Given the description of an element on the screen output the (x, y) to click on. 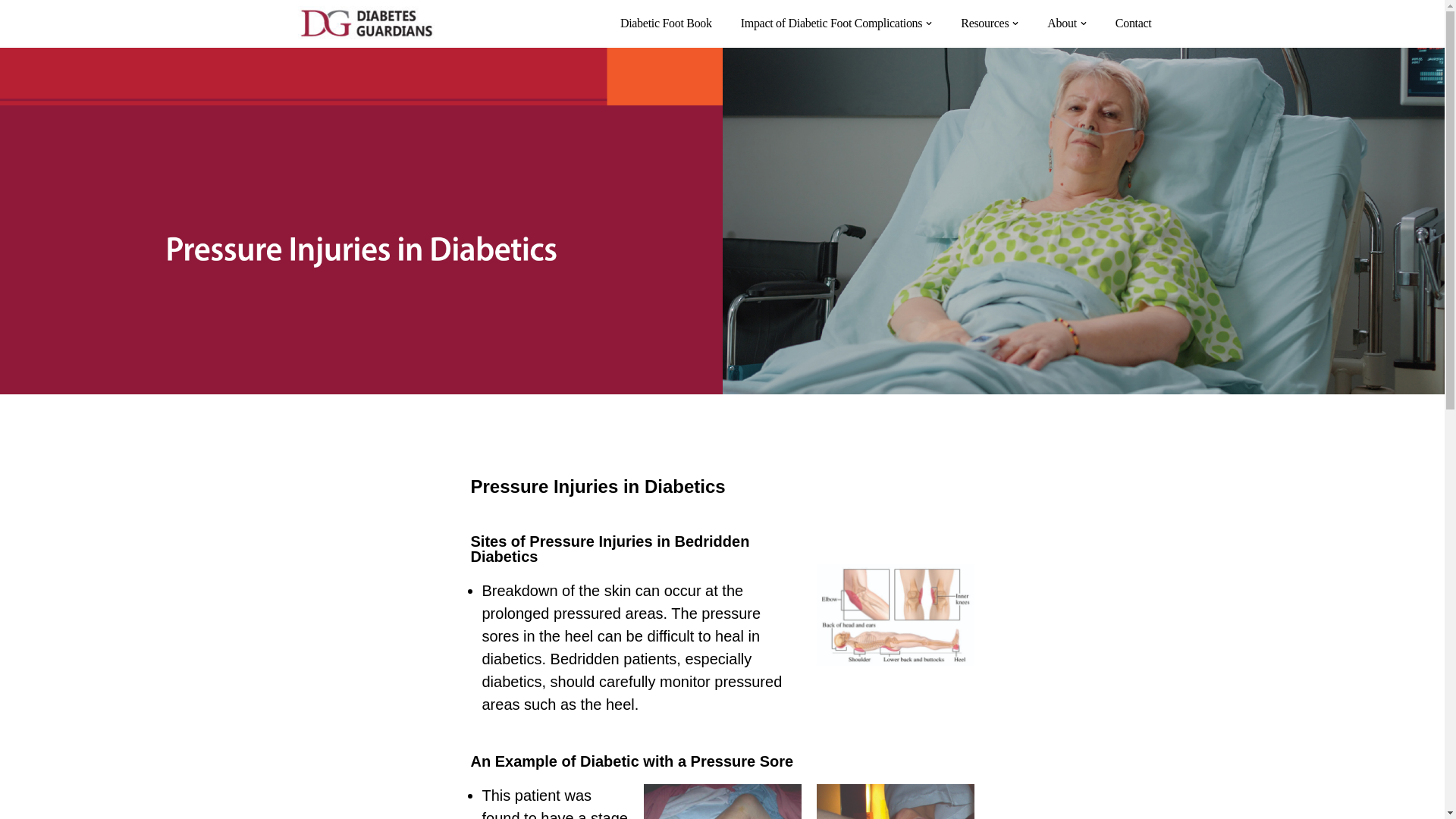
Diabetic Foot Book (665, 22)
Skip to content (11, 31)
Resources (984, 22)
About (1061, 22)
Impact of Diabetic Foot Complications (832, 22)
Contact (1133, 22)
